Given the description of an element on the screen output the (x, y) to click on. 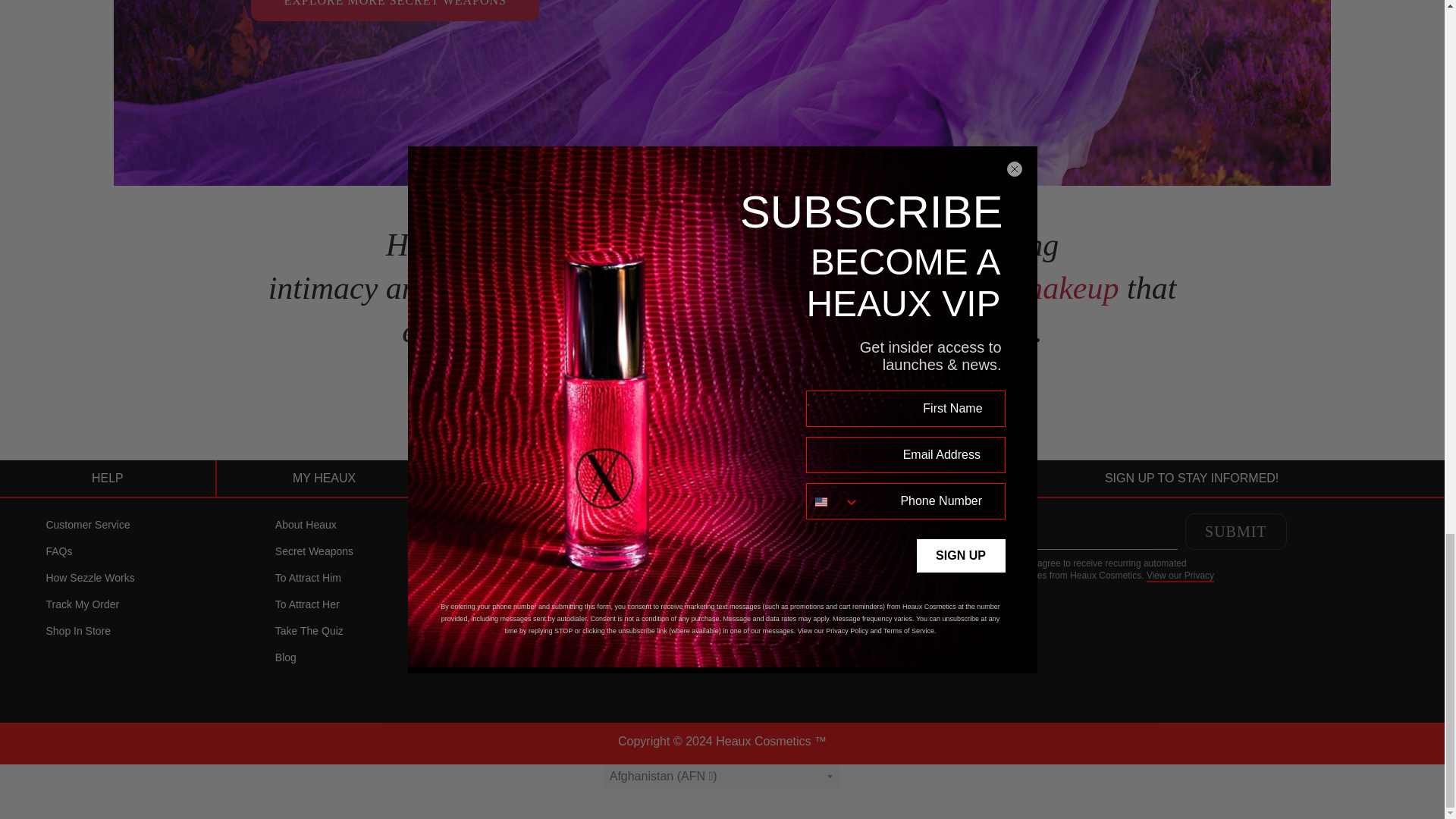
How Sezzle Works (89, 577)
About Heaux (305, 524)
Secret Weapons (314, 550)
FAQs (58, 550)
Customer Service (87, 524)
Submit (1236, 531)
Shop In Store (77, 630)
Track My Order (82, 603)
